Given the description of an element on the screen output the (x, y) to click on. 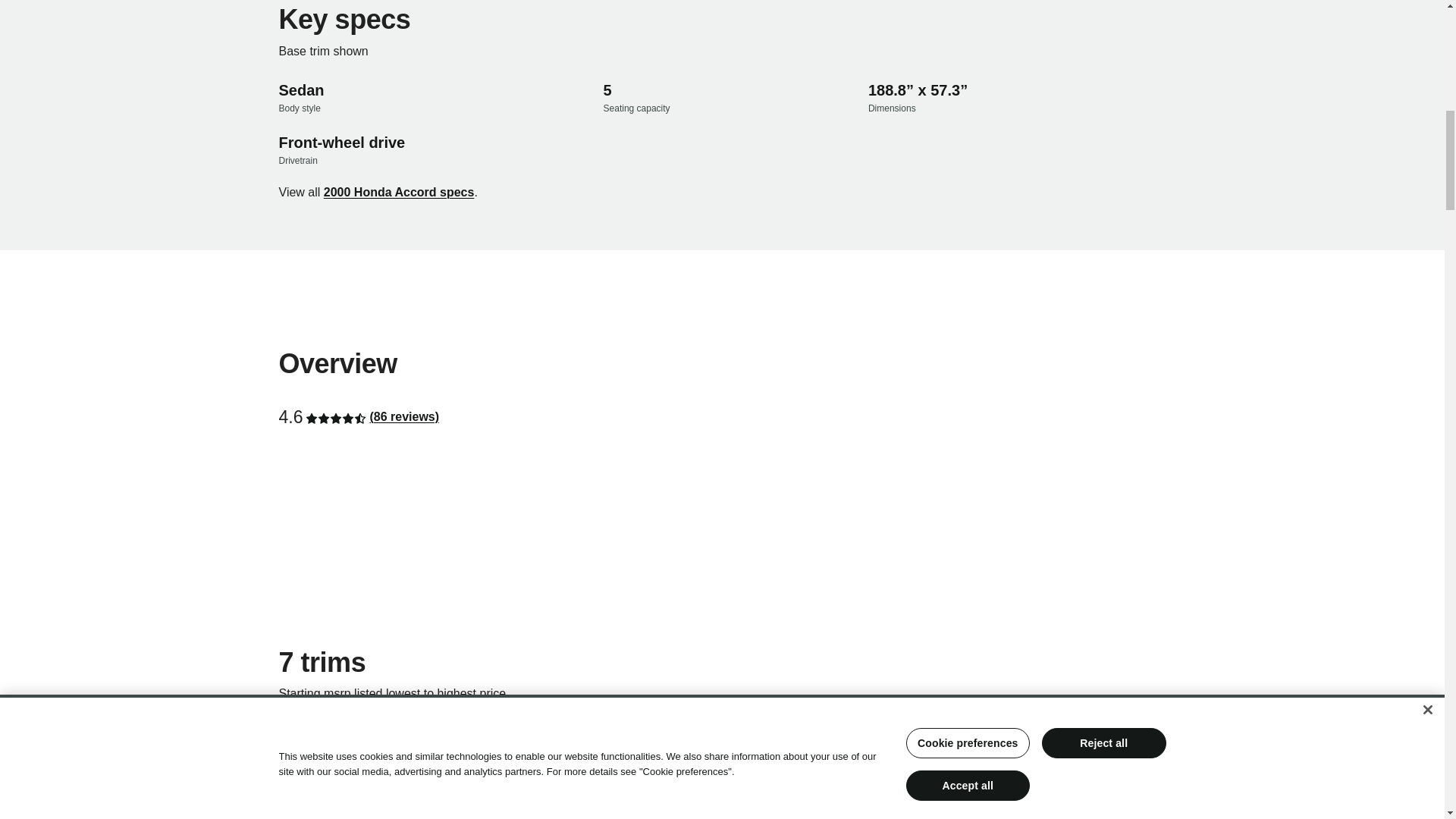
DX (287, 811)
2000 Honda Accord specs (398, 192)
